Given the description of an element on the screen output the (x, y) to click on. 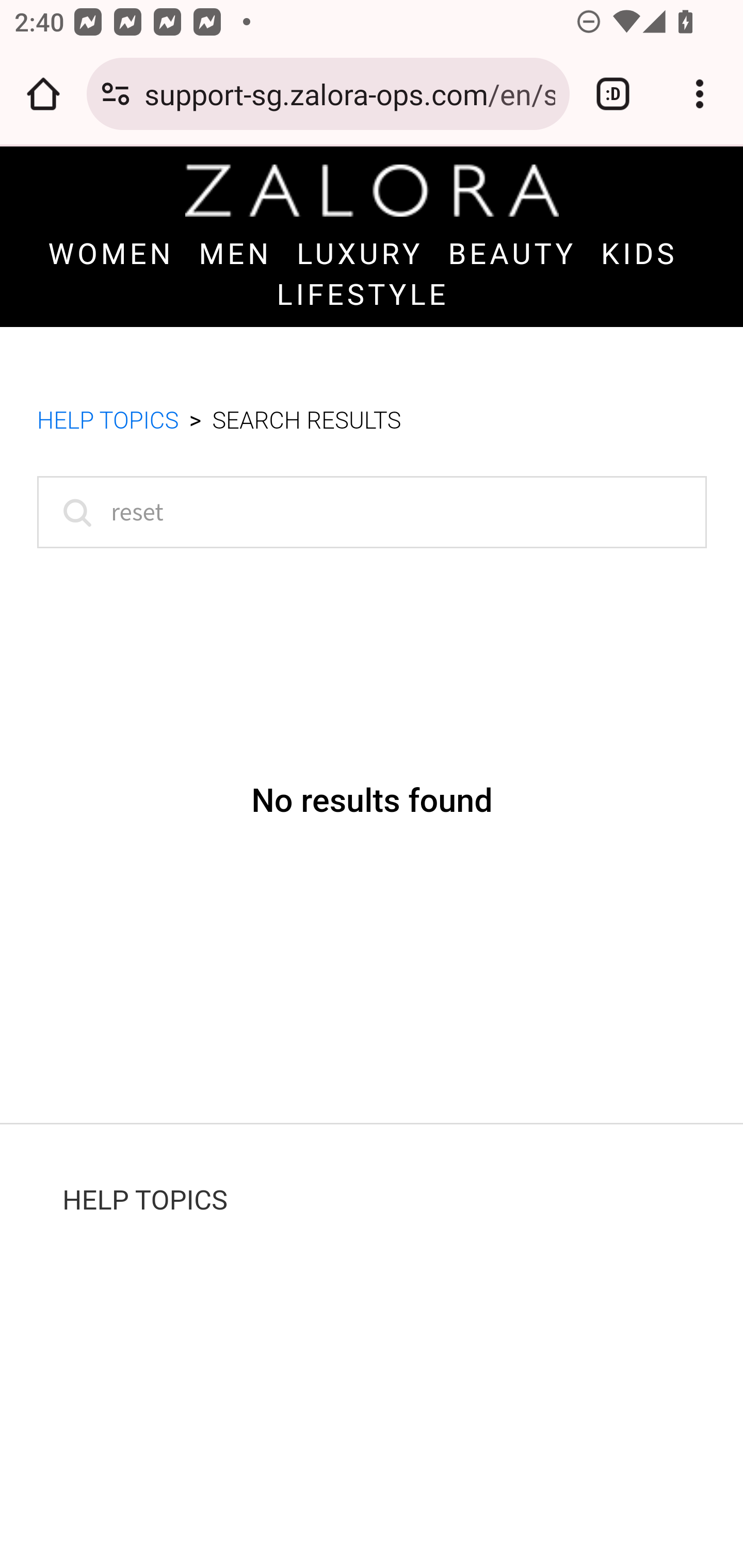
Open the home page (43, 93)
Connection is secure (115, 93)
Switch or close tabs (612, 93)
Customize and control Google Chrome (699, 93)
logo (371, 189)
WOMEN (110, 254)
MEN (235, 254)
LUXURY (360, 254)
BEAUTY (513, 254)
KIDS (639, 254)
LIFESTYLE (362, 293)
HELP TOPICS (108, 421)
reset (372, 511)
Search (72, 511)
HELP TOPICS (145, 1199)
